Given the description of an element on the screen output the (x, y) to click on. 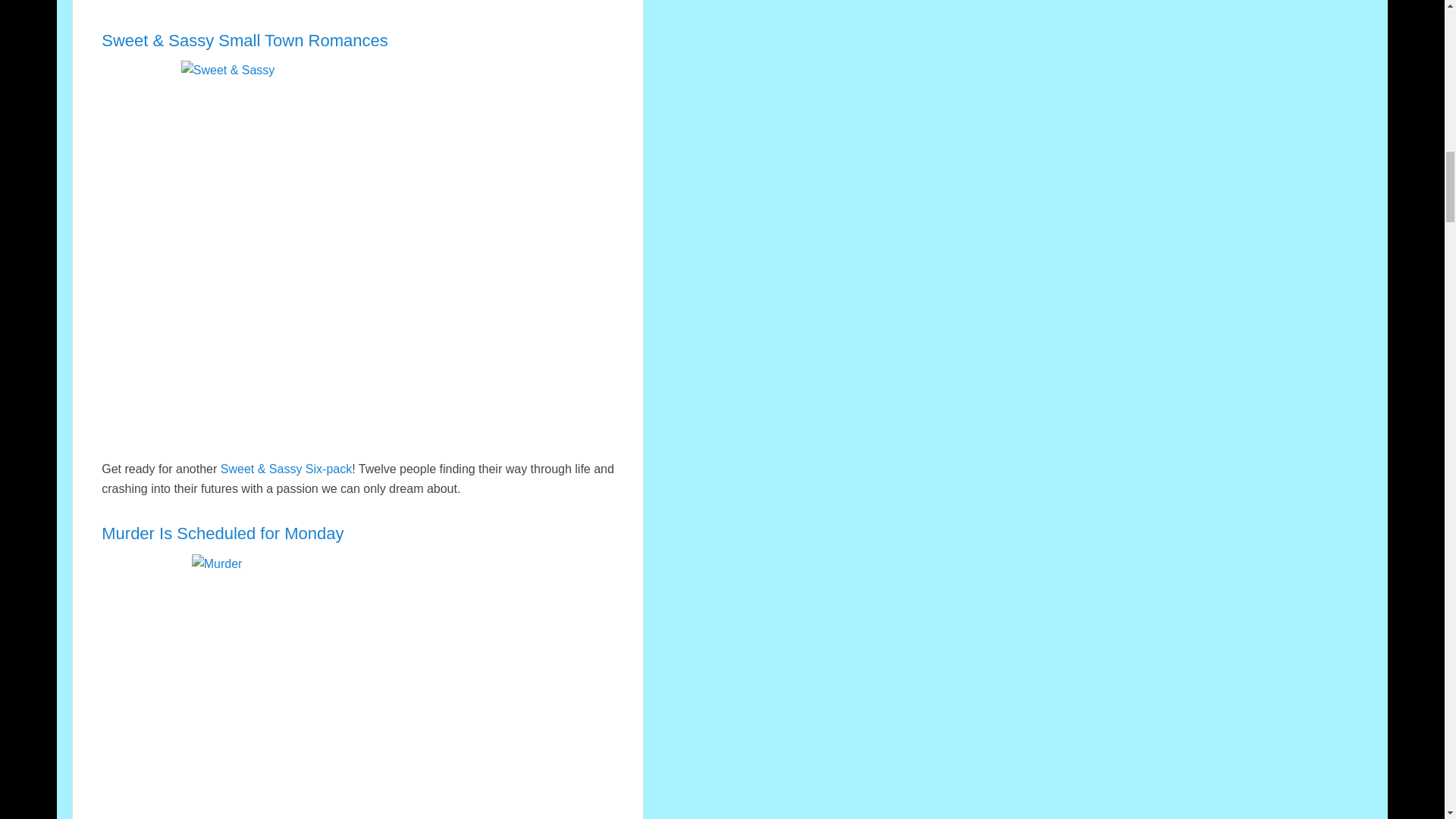
Murder Is Scheduled for Monday (222, 533)
